Given the description of an element on the screen output the (x, y) to click on. 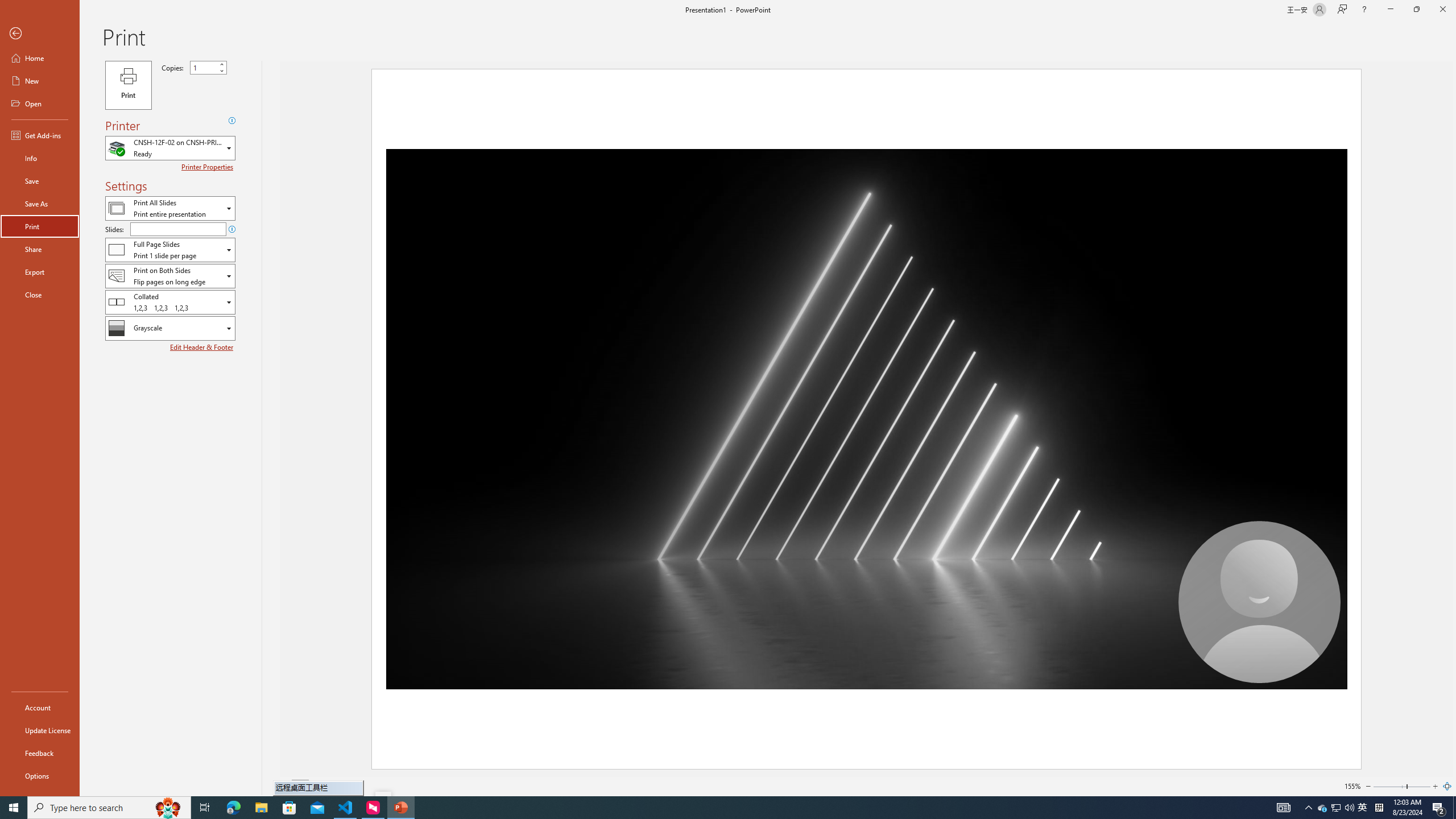
More (220, 64)
Account (40, 707)
Zoom to Page (1447, 786)
Open (40, 102)
Which Printer (169, 147)
Zoom (1401, 786)
Print (127, 84)
System (6, 6)
Previous Page (285, 786)
Print (40, 225)
155% (1352, 785)
Share (40, 248)
Update License (40, 730)
